Given the description of an element on the screen output the (x, y) to click on. 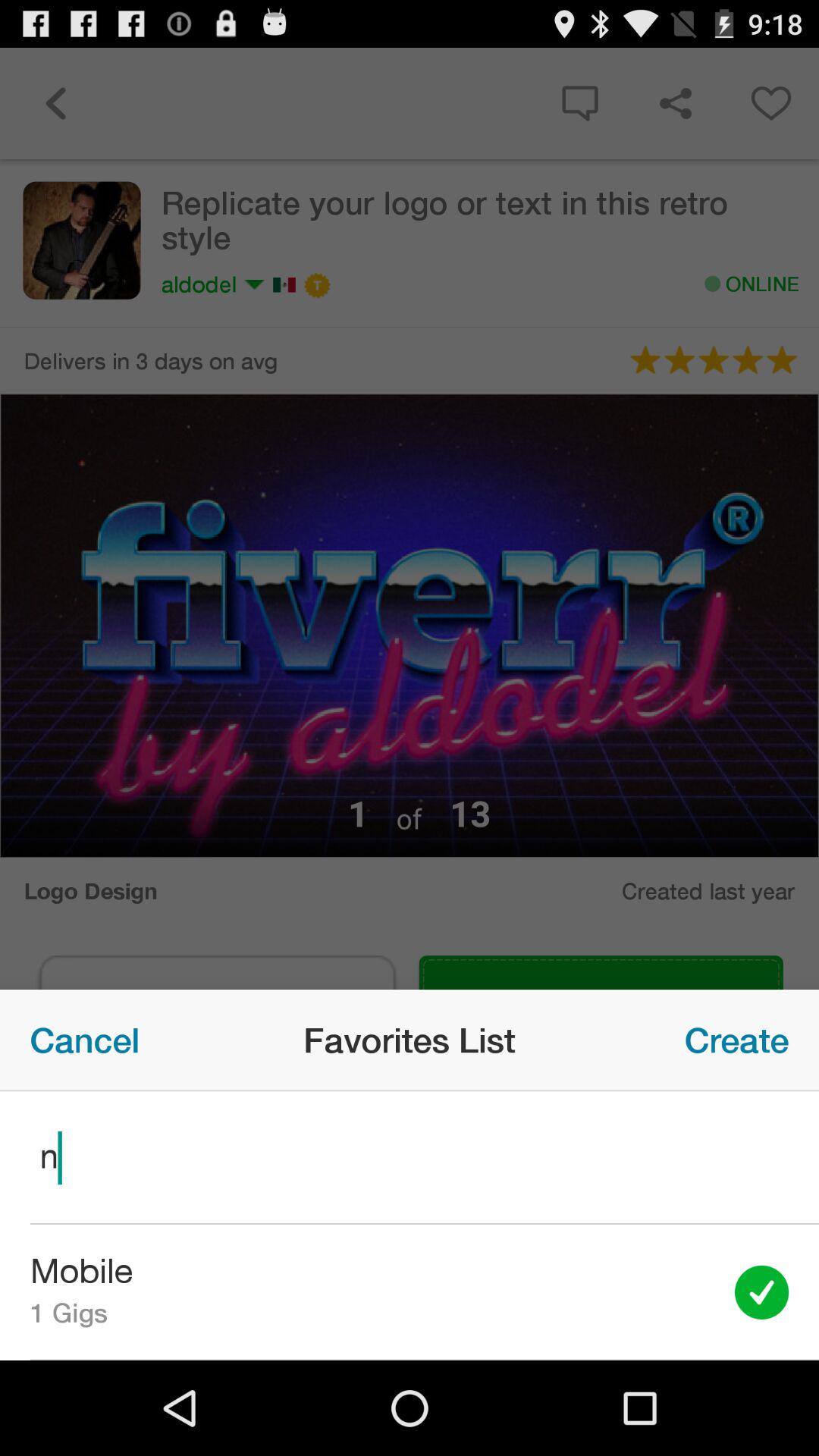
jump to the cancel (84, 1039)
